Given the description of an element on the screen output the (x, y) to click on. 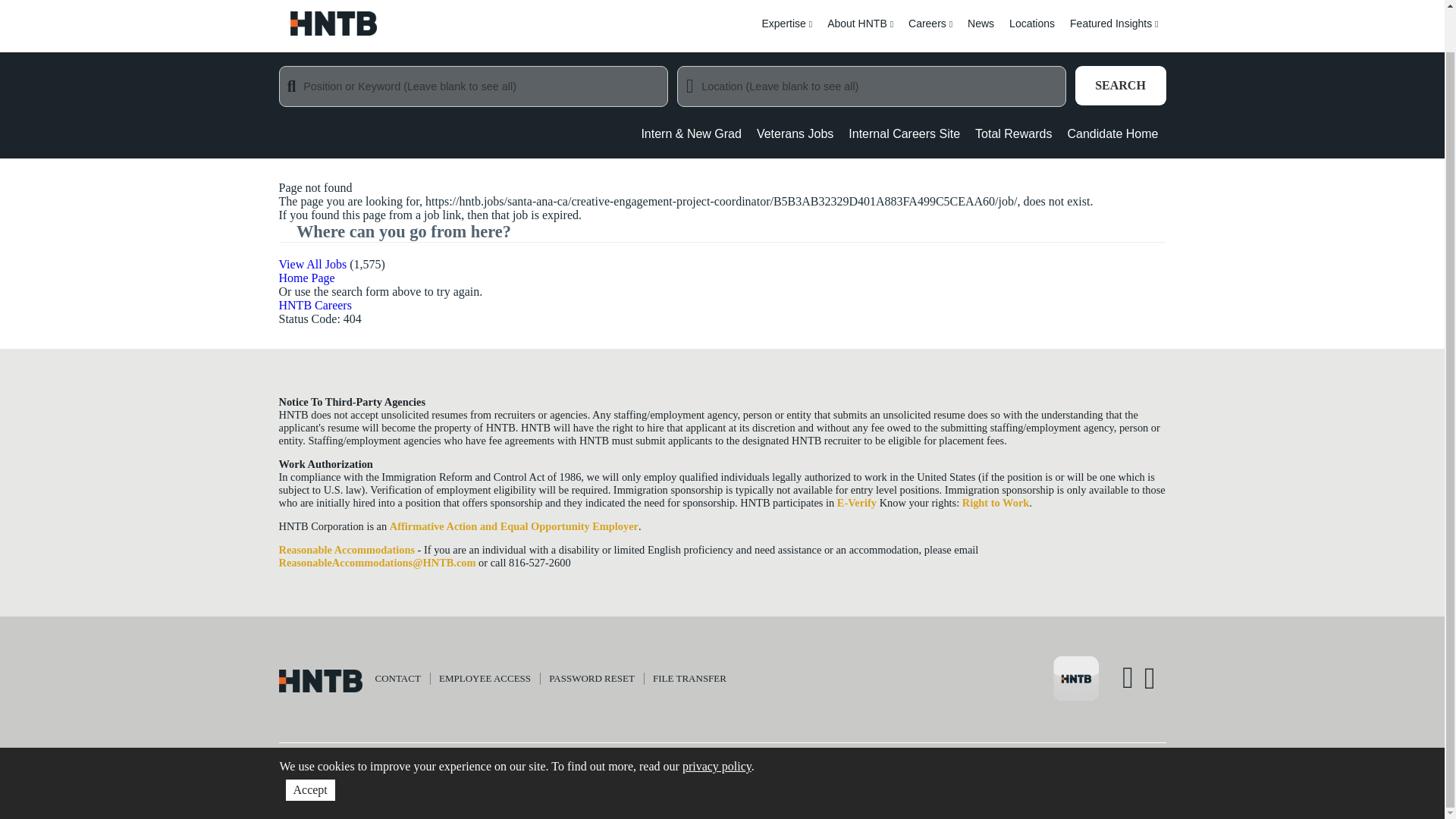
News (980, 32)
About HNTB (860, 32)
Expertise (786, 32)
Locations (1031, 32)
Accept (309, 744)
Careers (930, 32)
Featured Insights (1114, 32)
privacy policy (716, 721)
